Given the description of an element on the screen output the (x, y) to click on. 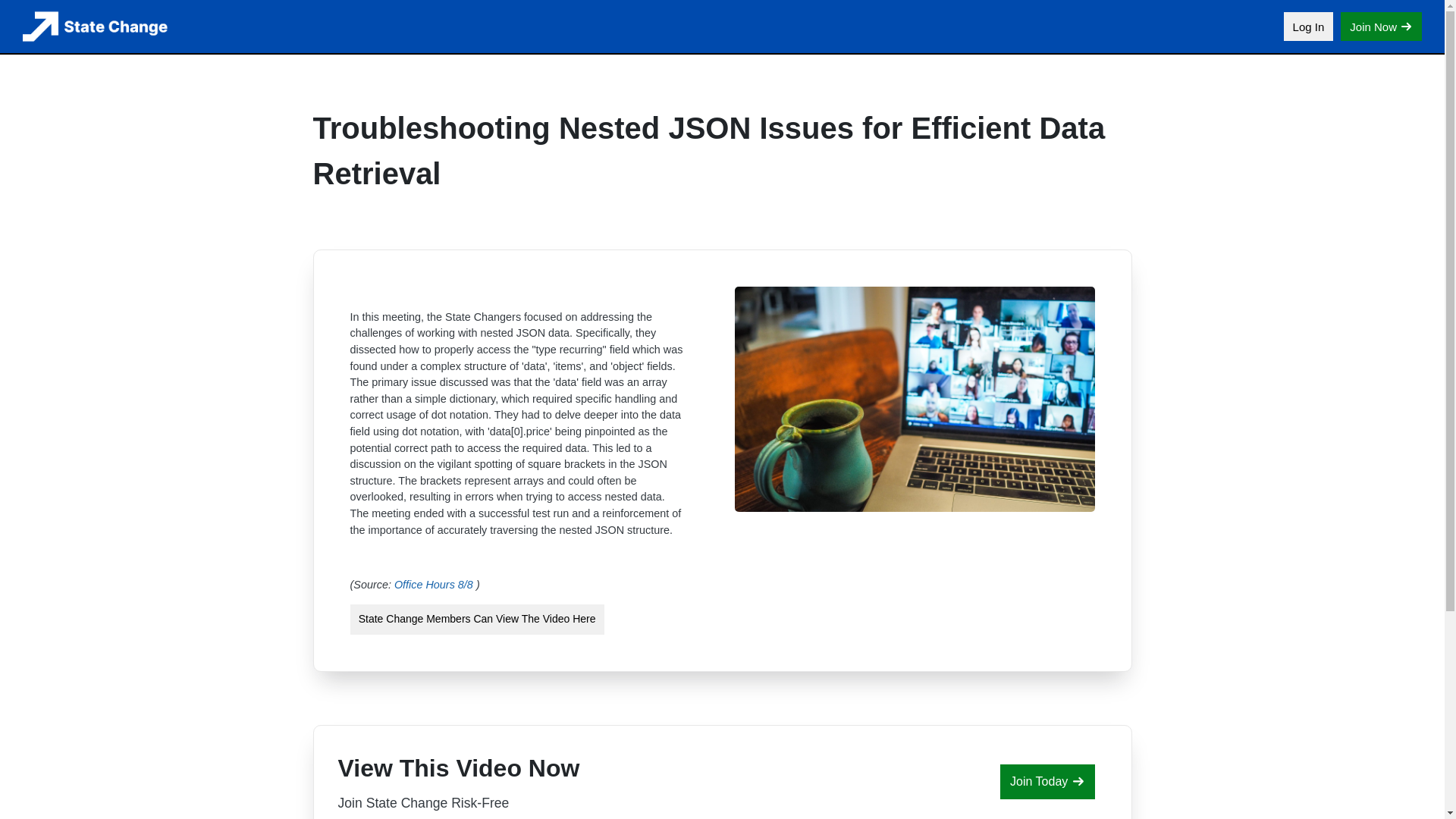
State Change Members Can View The Video Here (477, 619)
Join Now (1381, 26)
Log In (1308, 26)
Join Today (1047, 781)
